Given the description of an element on the screen output the (x, y) to click on. 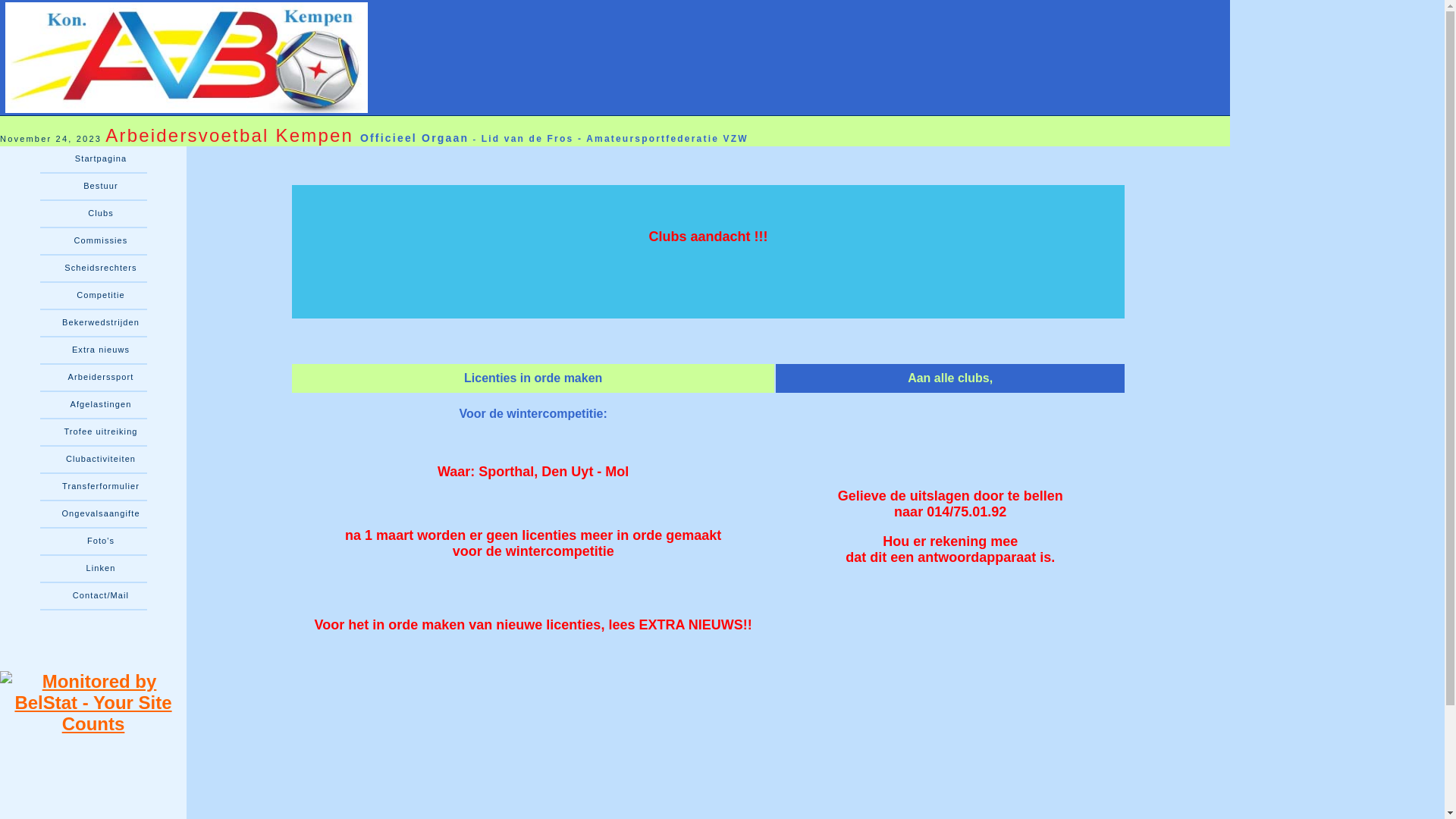
Afgelastingen Element type: text (92, 404)
Arbeiderssport Element type: text (92, 377)
Bekerwedstrijden Element type: text (92, 322)
Scheidsrechters Element type: text (92, 268)
Foto's Element type: text (92, 541)
Clubactiviteiten Element type: text (92, 459)
Linken Element type: text (92, 568)
Transferformulier Element type: text (92, 486)
Extra nieuws Element type: text (92, 350)
Startpagina Element type: text (92, 159)
Commissies Element type: text (92, 241)
Clubs Element type: text (92, 213)
Trofee uitreiking Element type: text (92, 432)
Contact/Mail Element type: text (92, 595)
Bestuur Element type: text (92, 186)
Competitie Element type: text (92, 295)
Ongevalsaangifte Element type: text (92, 514)
